Given the description of an element on the screen output the (x, y) to click on. 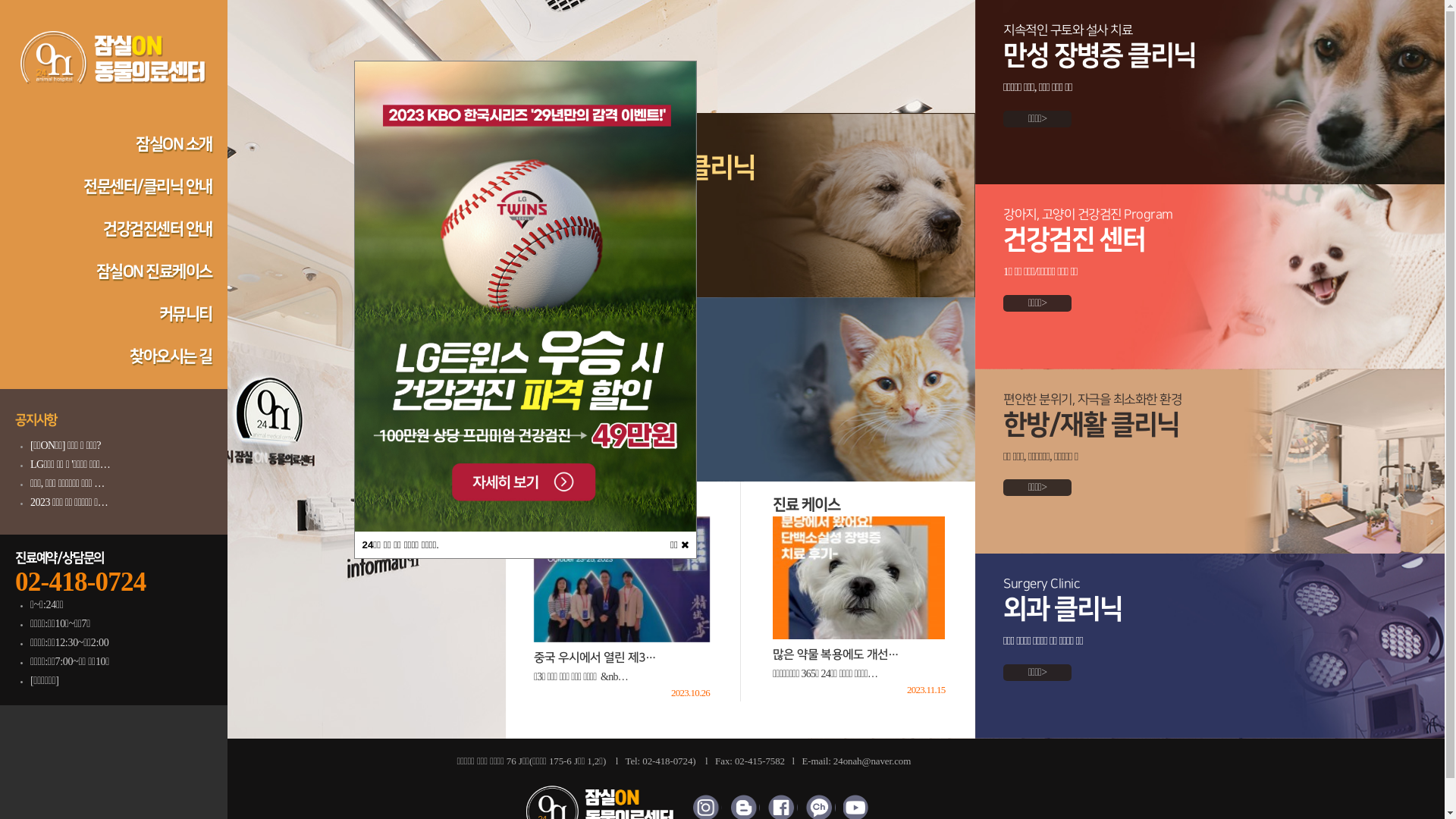
5dc34035e067502bbebc77500bf8fef3_1699872535_2089.jpg Element type: hover (525, 296)
